Given the description of an element on the screen output the (x, y) to click on. 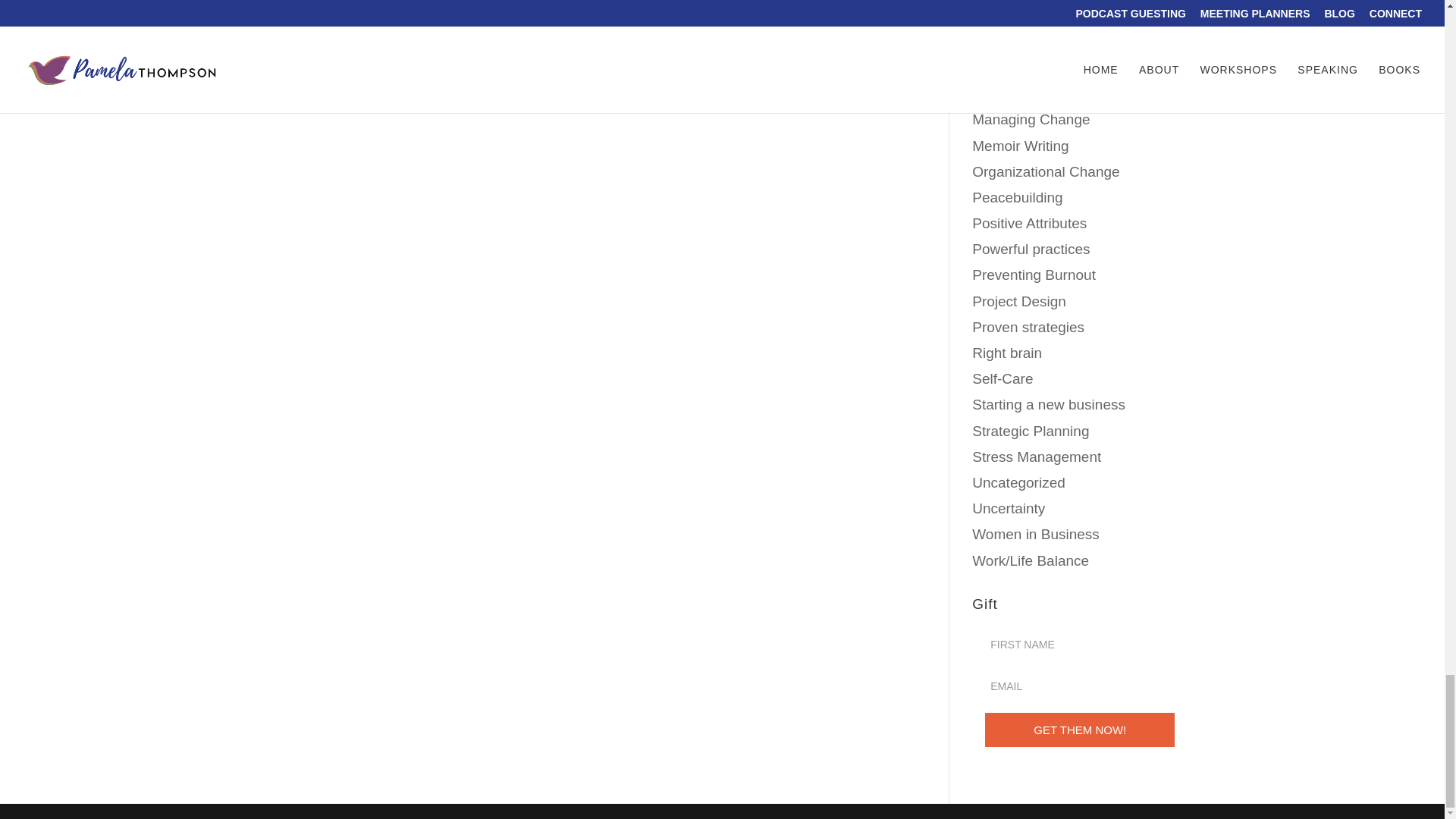
GET THEM NOW! (1079, 729)
